Given the description of an element on the screen output the (x, y) to click on. 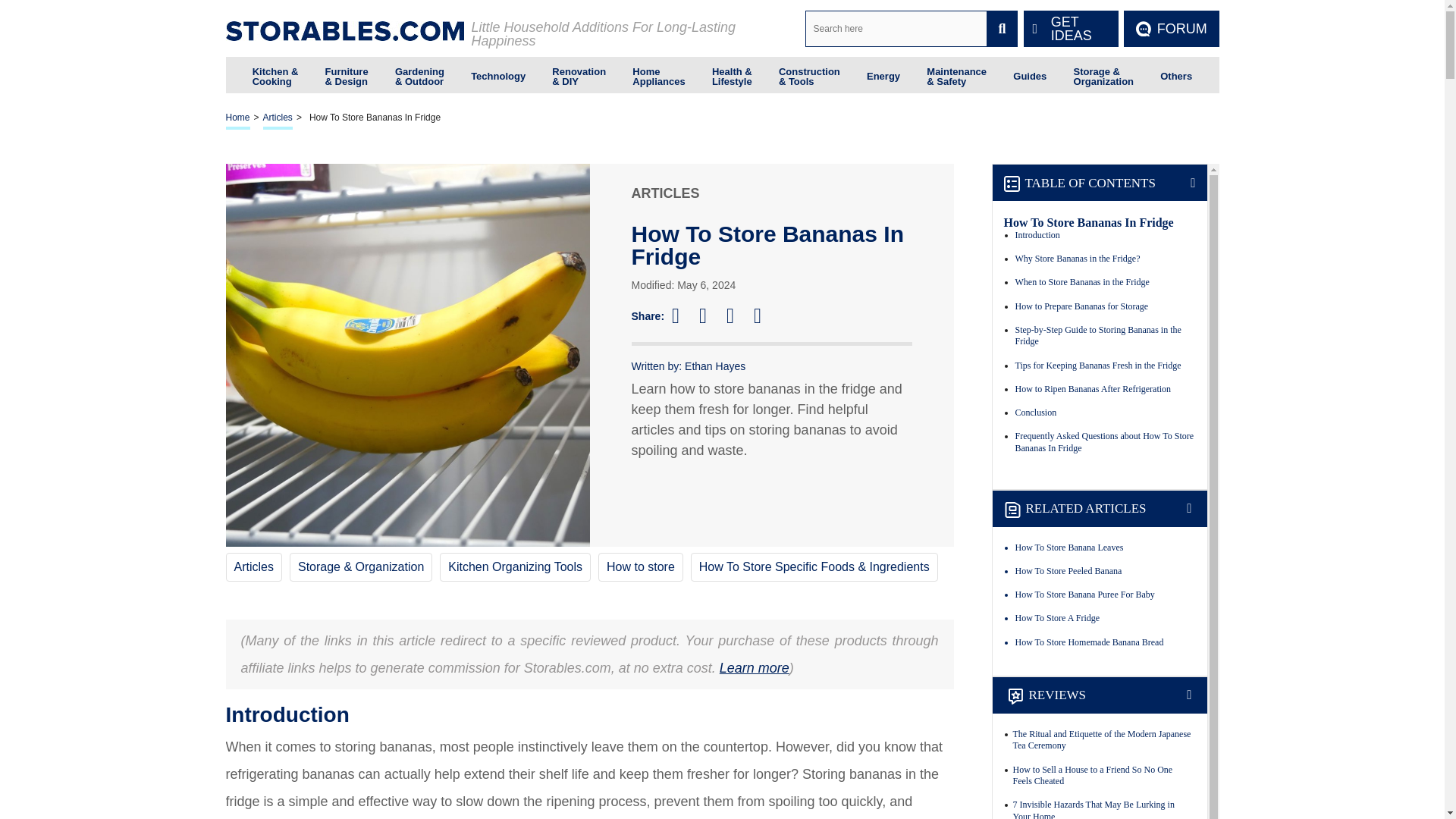
GET IDEAS (1070, 28)
Share on WhatsApp (764, 315)
Technology (497, 74)
FORUM (1171, 28)
Share on Twitter (709, 315)
Share on Pinterest (737, 315)
Share on Facebook (682, 315)
